Given the description of an element on the screen output the (x, y) to click on. 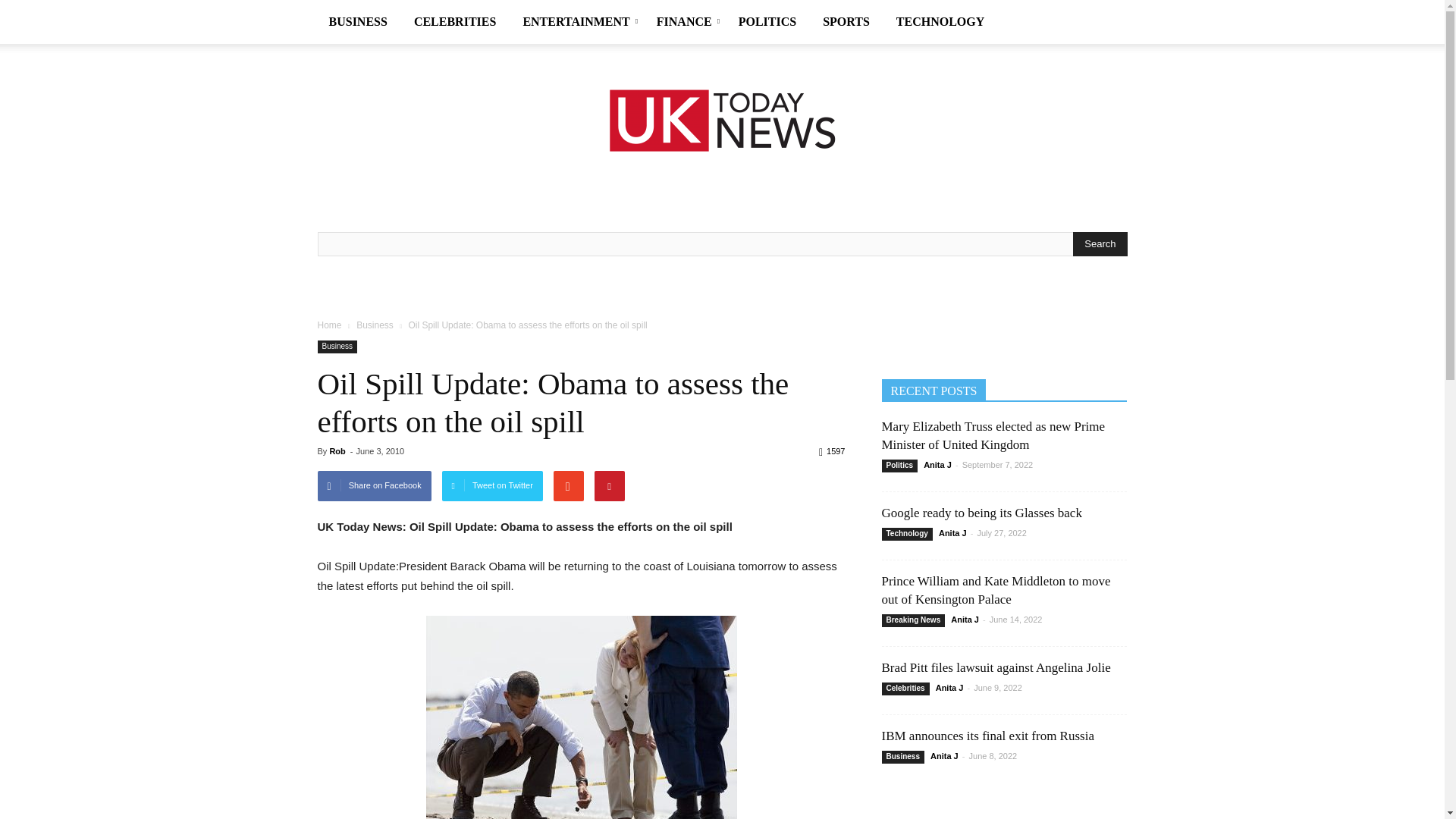
Obama to assess the efforts on the oil spill (581, 717)
Brad Pitt files lawsuit against Angelina Jolie (994, 667)
Search (1099, 243)
ENTERTAINMENT (578, 22)
BUSINESS (359, 22)
CELEBRITIES (457, 22)
View all posts in Business (374, 325)
Google ready to being its Glasses back (980, 513)
FINANCE (685, 22)
IBM announces its final exit from Russia (986, 735)
